Given the description of an element on the screen output the (x, y) to click on. 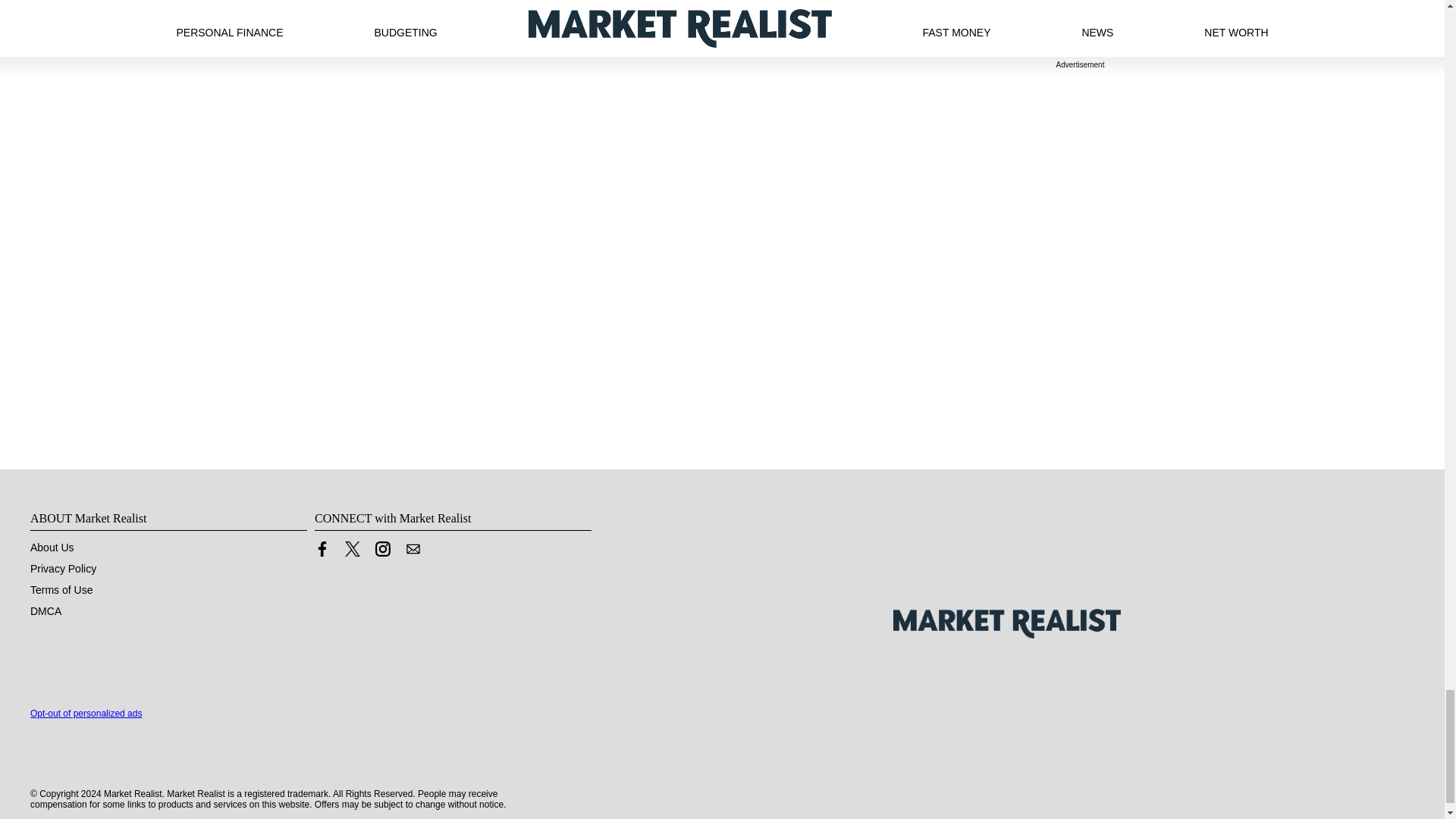
DMCA (45, 611)
About Us (52, 547)
Link to X (352, 548)
Privacy Policy (63, 568)
Terms of Use (61, 589)
Link to Facebook (322, 548)
Link to Facebook (322, 552)
Terms of Use (61, 589)
Link to Instagram (382, 548)
About Us (52, 547)
